Given the description of an element on the screen output the (x, y) to click on. 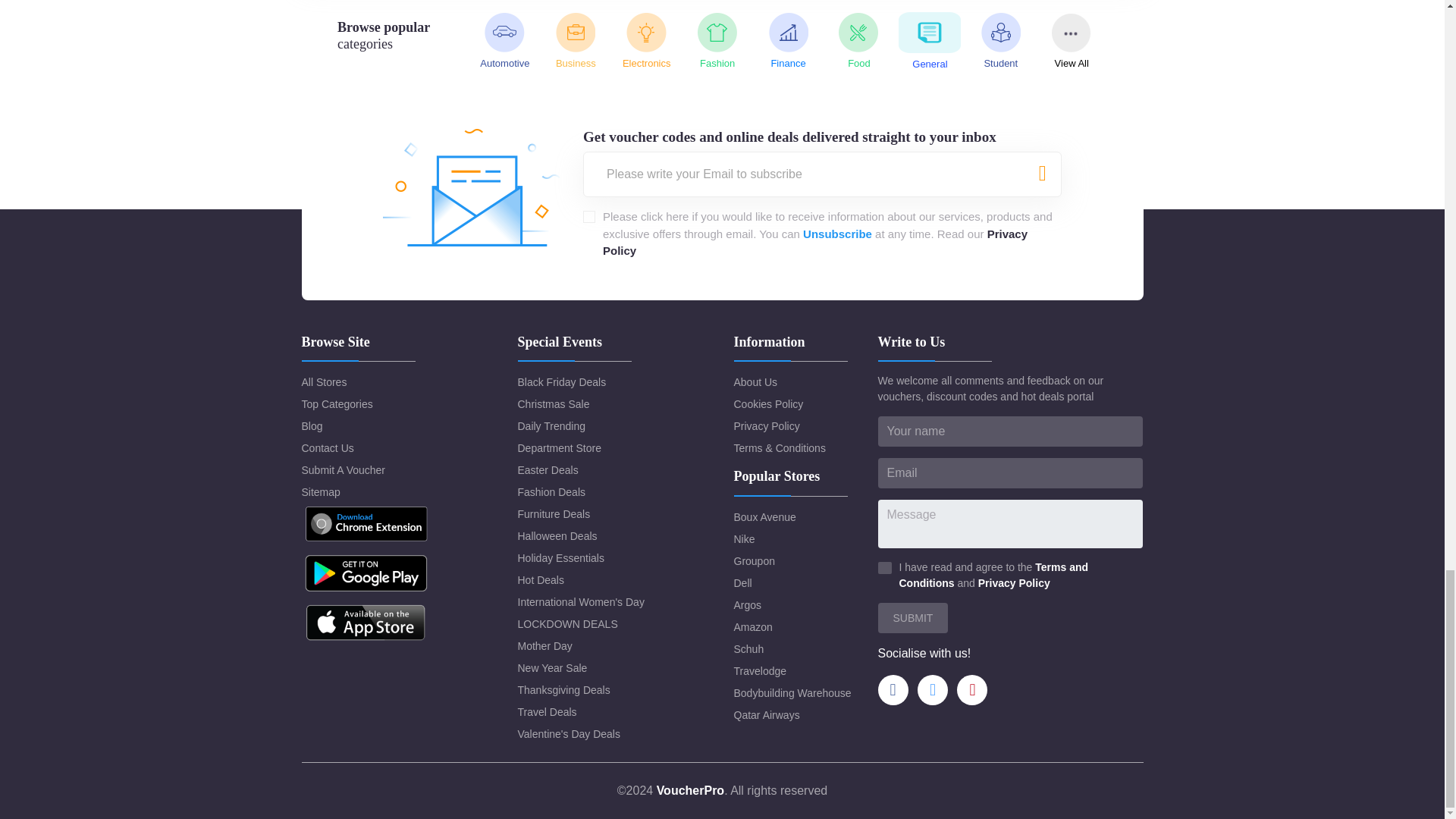
VoucherPro App (365, 573)
VoucherPro Extension (365, 523)
VoucherPro App (365, 622)
